Given the description of an element on the screen output the (x, y) to click on. 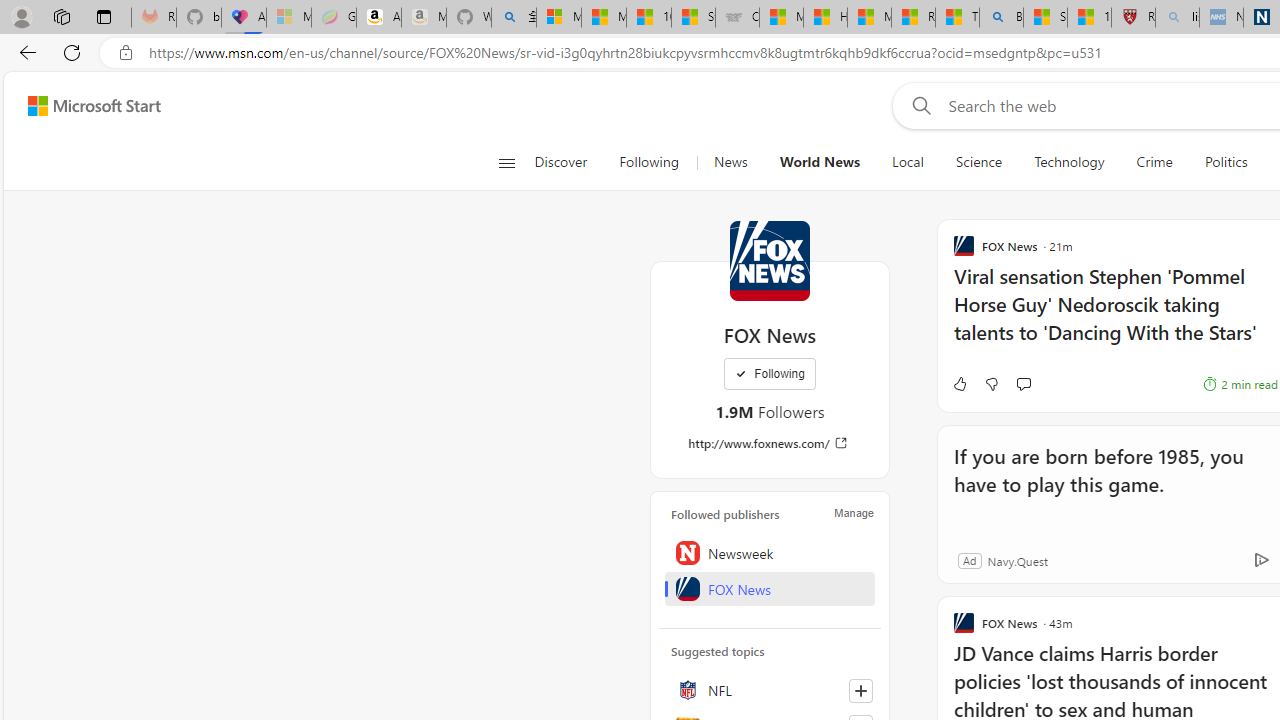
http://www.foxnews.com/ (769, 443)
12 Popular Science Lies that Must be Corrected (1089, 17)
Robert H. Shmerling, MD - Harvard Health (1133, 17)
